Given the description of an element on the screen output the (x, y) to click on. 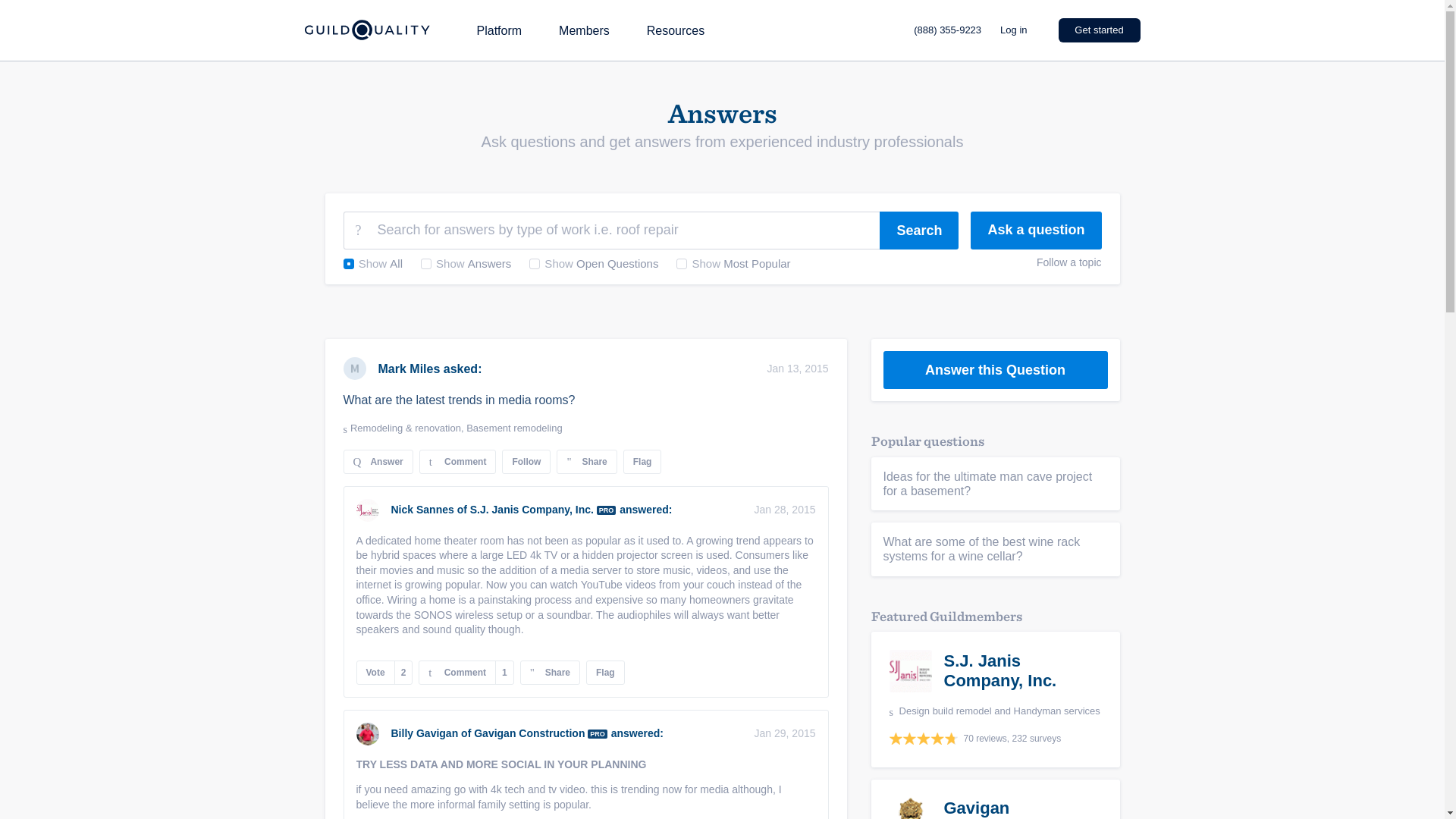
Share (585, 461)
Platform (498, 30)
Members (384, 672)
4.8 Average (584, 30)
Share (922, 738)
Basement remodeling (549, 672)
Answer (513, 428)
Mark Miles (377, 461)
Get started (408, 368)
Resources (1099, 30)
Log in (675, 30)
Search (1013, 30)
Follow (918, 230)
Flag (526, 461)
